Given the description of an element on the screen output the (x, y) to click on. 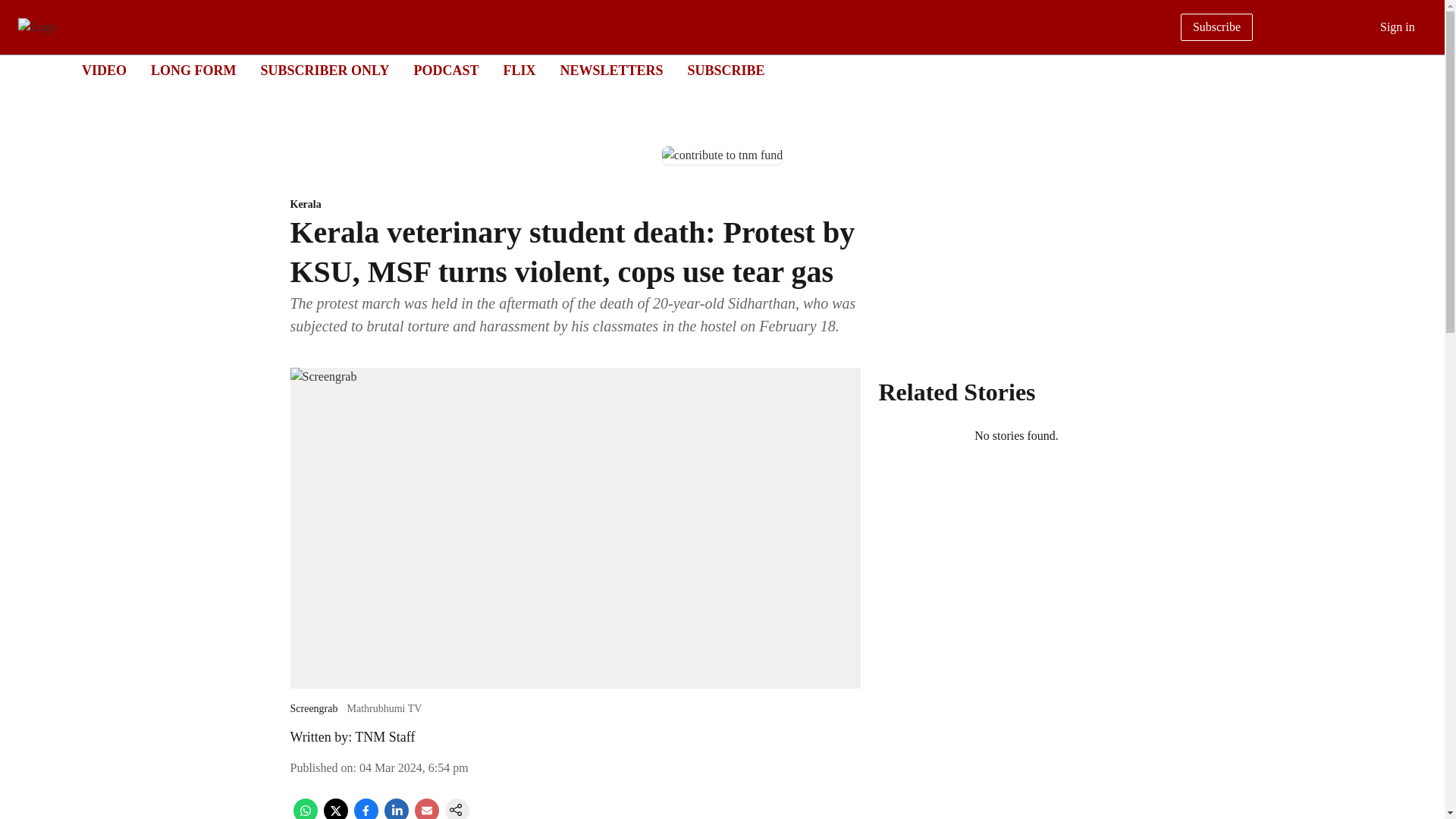
PODCAST (446, 70)
LONG FORM (193, 70)
TNM Staff (384, 736)
Dark Mode (1415, 70)
NEWSLETTERS (610, 70)
VIDEO (103, 70)
SUBSCRIBE (726, 70)
Kerala (574, 204)
SUBSCRIBER ONLY (325, 70)
